Given the description of an element on the screen output the (x, y) to click on. 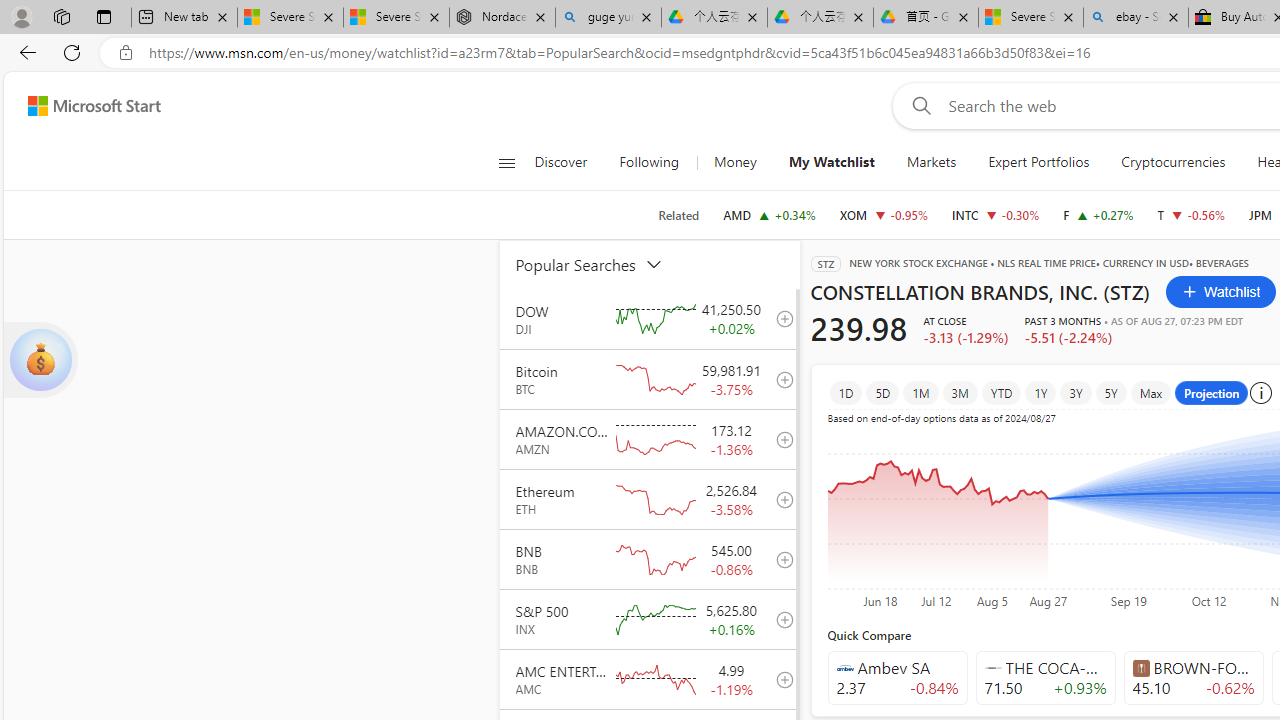
Cryptocurrencies (1172, 162)
1D (845, 392)
Markets (930, 162)
Markets (931, 162)
show card (40, 359)
